Given the description of an element on the screen output the (x, y) to click on. 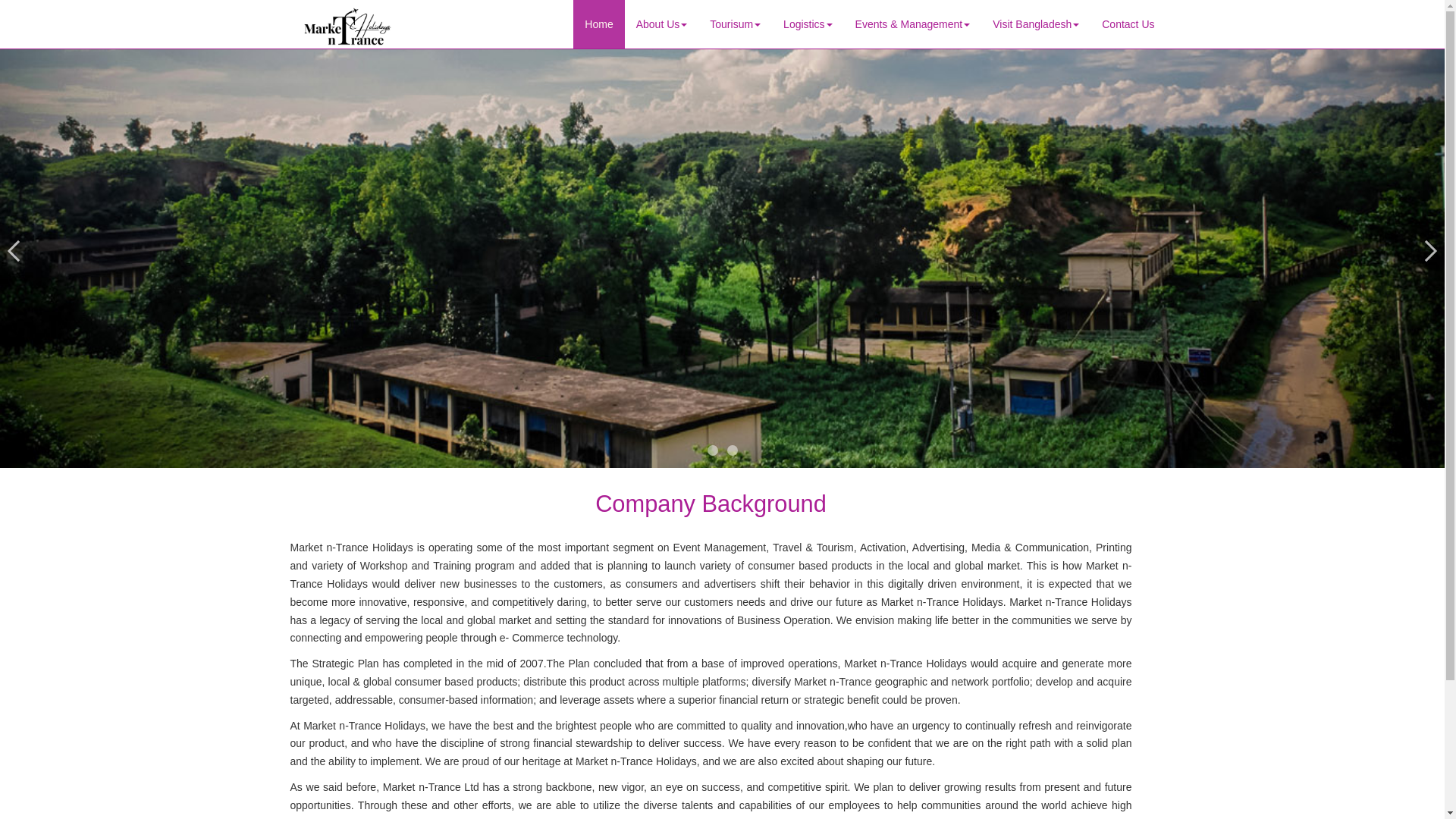
Tourisum (734, 24)
Home (598, 24)
About Us (661, 24)
Logistics (807, 24)
Contact Us (1128, 24)
Visit Bangladesh (1035, 24)
